Given the description of an element on the screen output the (x, y) to click on. 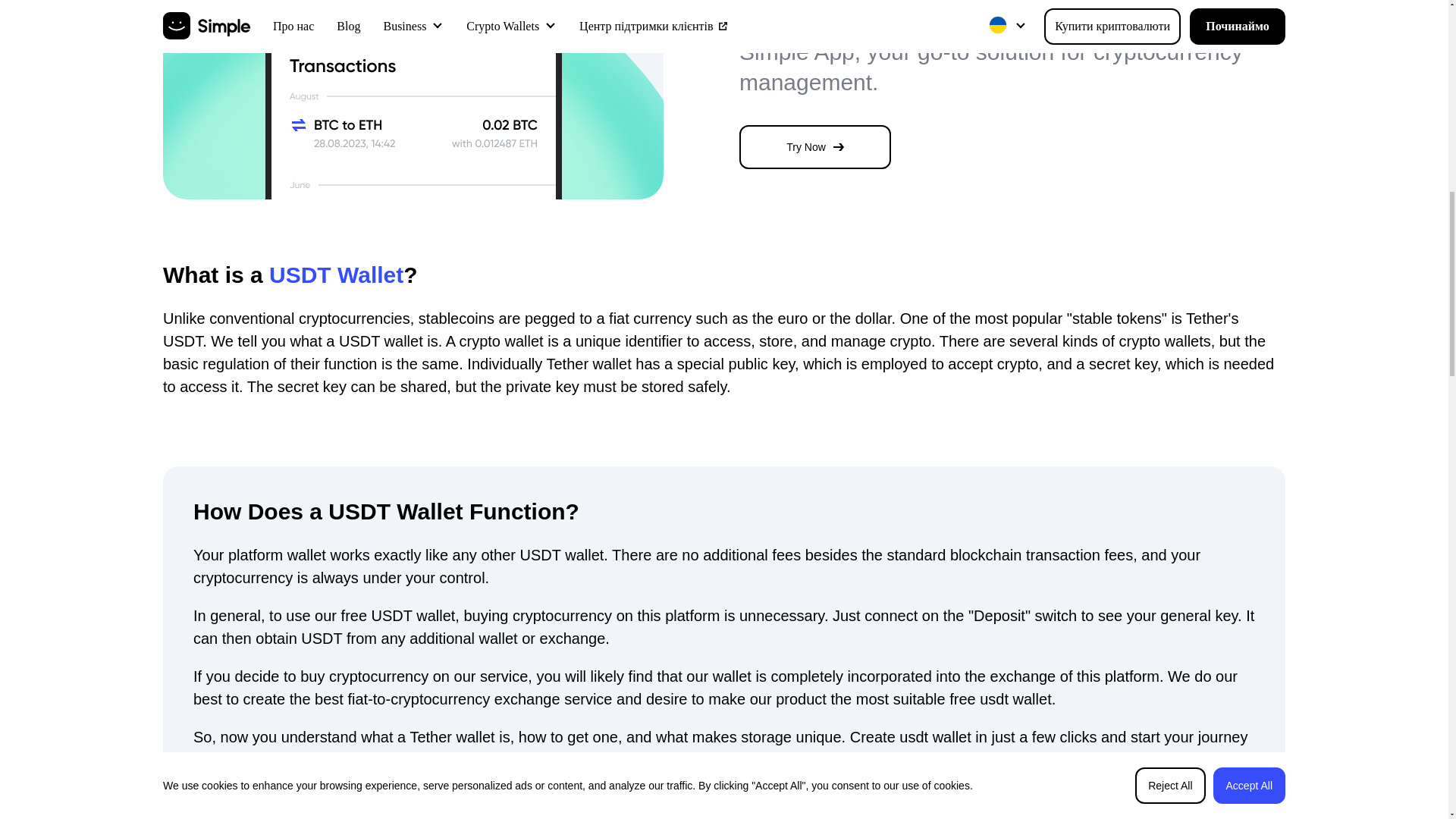
Try Now (815, 146)
